Given the description of an element on the screen output the (x, y) to click on. 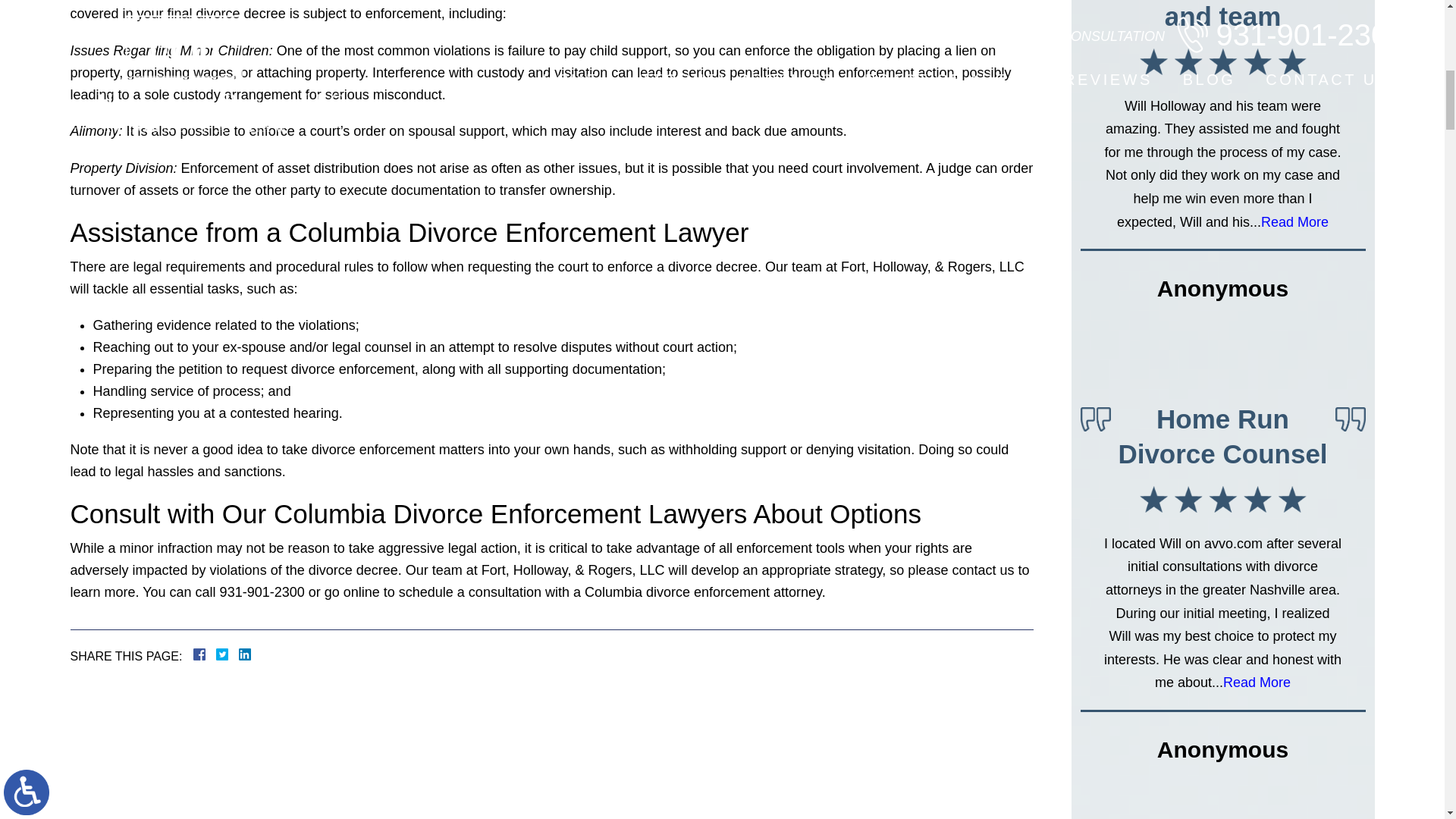
LinkedIn (238, 654)
Twitter (227, 654)
Facebook (217, 654)
